Given the description of an element on the screen output the (x, y) to click on. 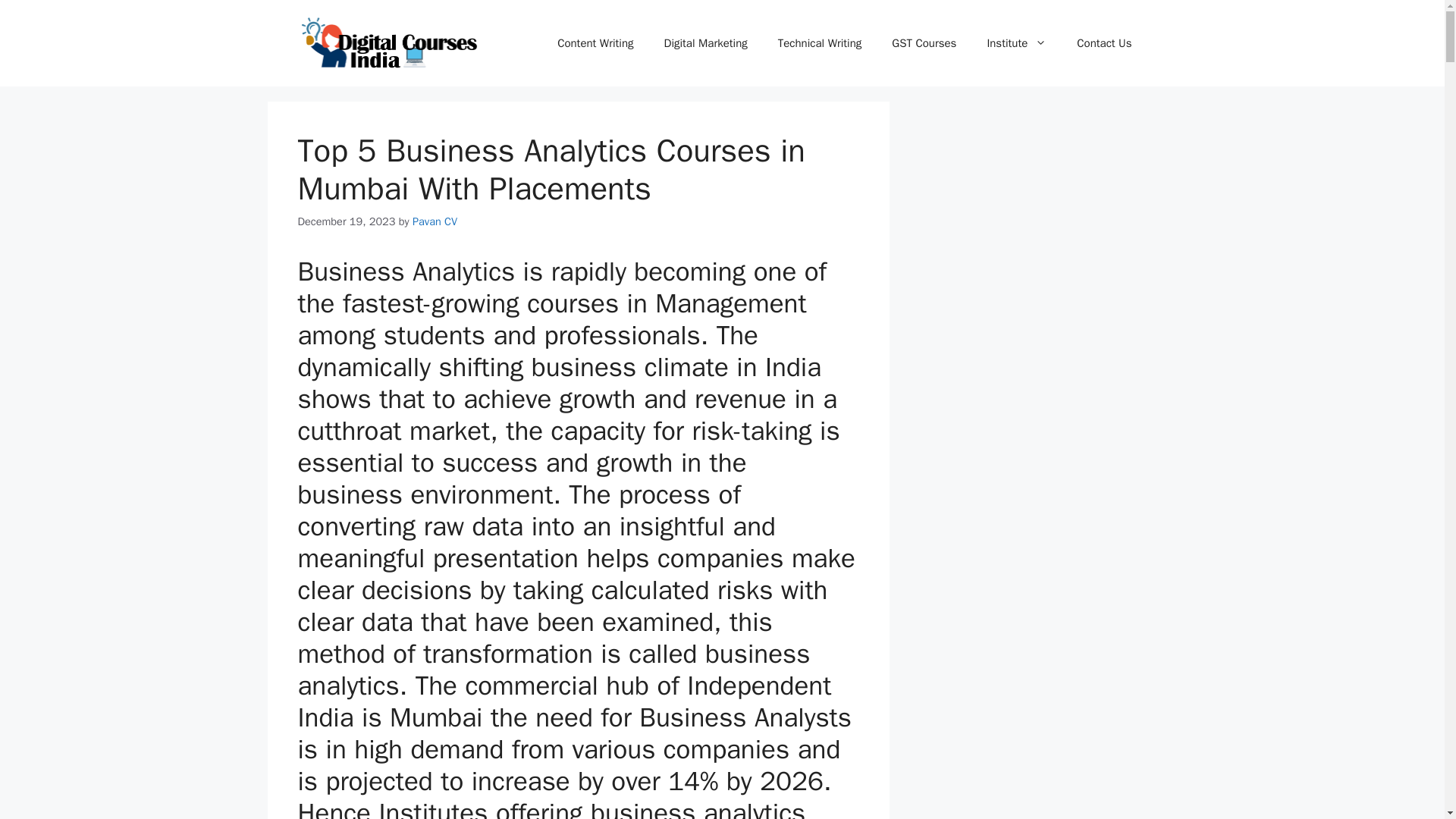
Institute (1016, 43)
Content Writing (594, 43)
Technical Writing (819, 43)
Digital Marketing (705, 43)
Pavan CV (434, 221)
GST Courses (923, 43)
View all posts by Pavan CV (434, 221)
Contact Us (1104, 43)
